Given the description of an element on the screen output the (x, y) to click on. 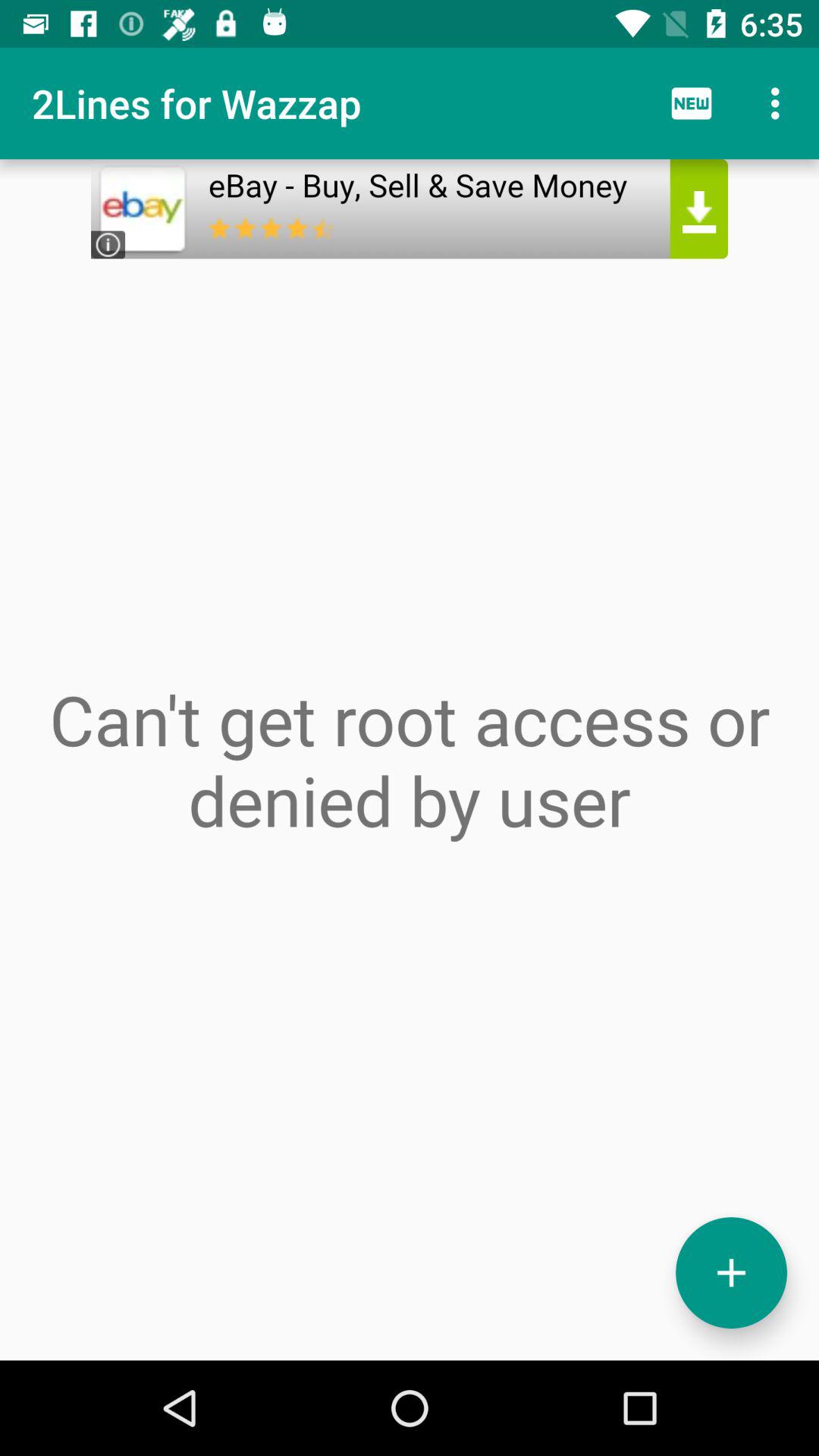
ebay advertisement (409, 208)
